Given the description of an element on the screen output the (x, y) to click on. 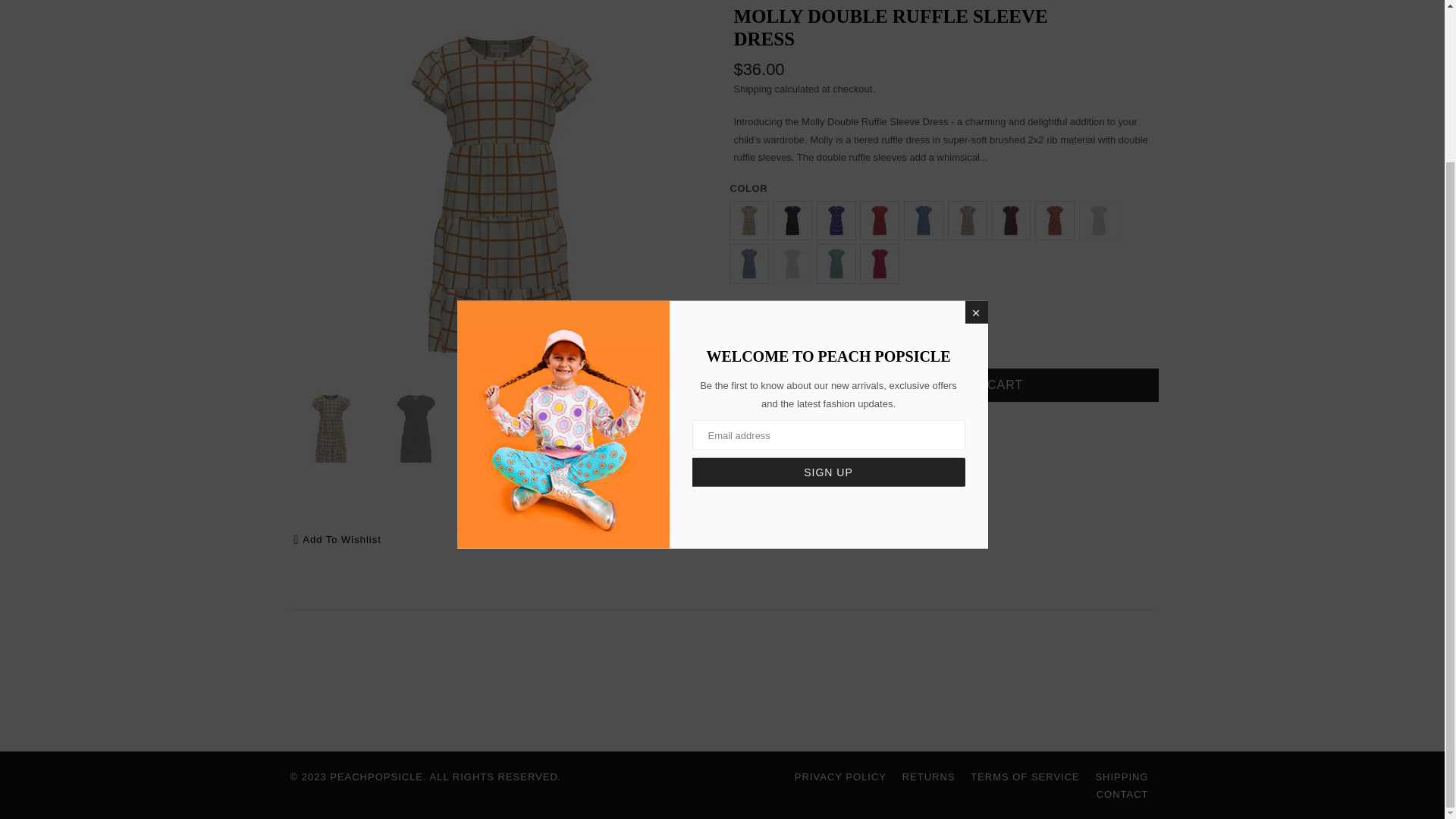
1 (760, 385)
Add to Wishlist (336, 539)
